Given the description of an element on the screen output the (x, y) to click on. 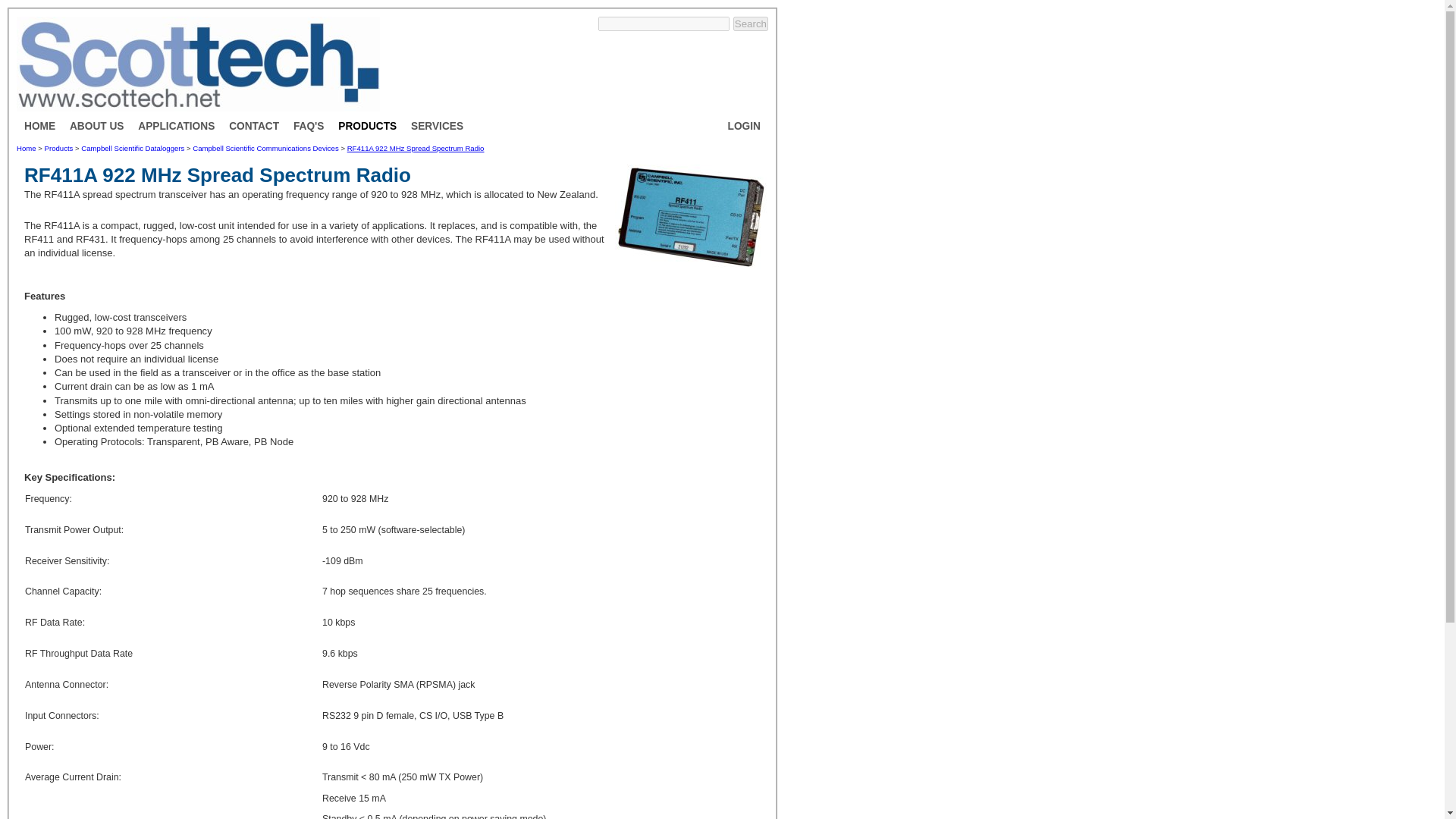
Campbell Scientific Communications Devices (264, 148)
Search (750, 23)
ABOUT US (96, 125)
APPLICATIONS (176, 125)
CONTACT (253, 125)
HOME (39, 125)
Search (750, 23)
Products (59, 148)
RF411A 922 MHz Spread Spectrum Radio (415, 148)
PRODUCTS (366, 125)
